Given the description of an element on the screen output the (x, y) to click on. 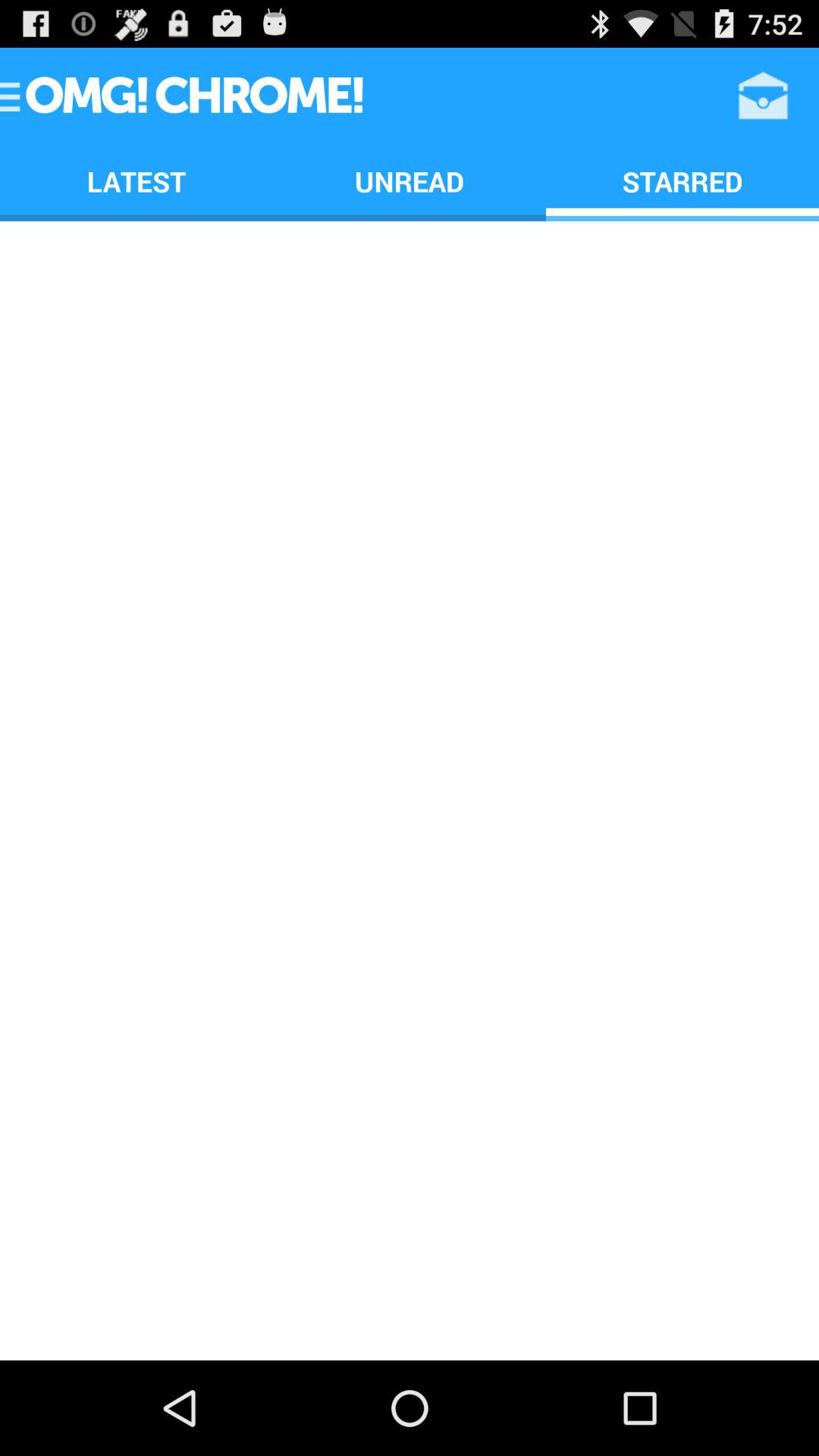
turn off the icon next to the unread icon (763, 95)
